Given the description of an element on the screen output the (x, y) to click on. 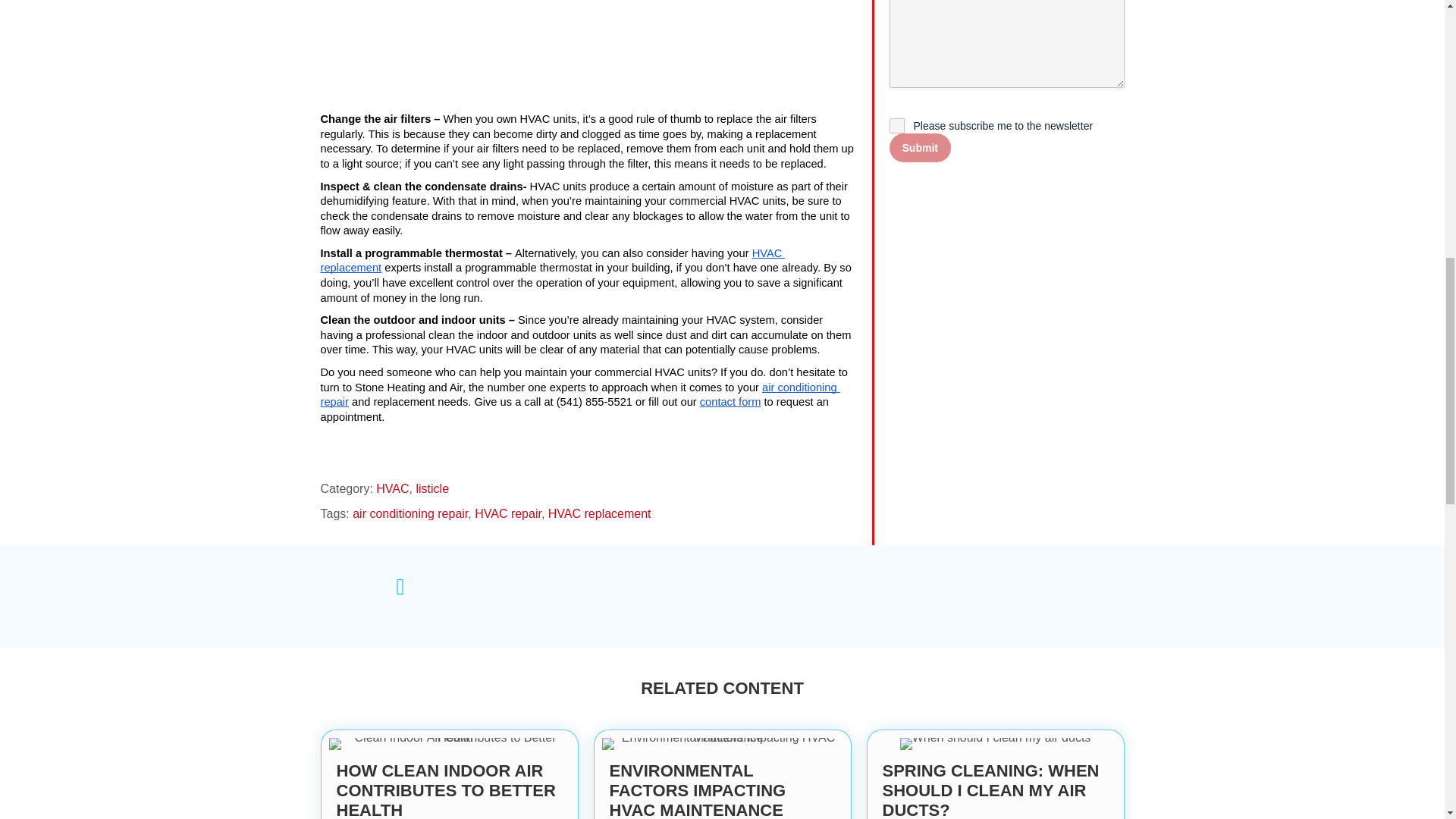
Spring Cleaning: When Should I Clean My Air Ducts? (995, 774)
Environmental Factors Impacting HVAC Maintenance (722, 743)
Please subscribe me to the newsletter (896, 125)
When should I clean my air ducts (994, 743)
Submit (919, 147)
Clean Indoor Air Contributes to Better Health (449, 743)
How Clean Indoor Air Contributes to Better Health (449, 774)
Environmental Factors Impacting HVAC Maintenance (722, 774)
